Given the description of an element on the screen output the (x, y) to click on. 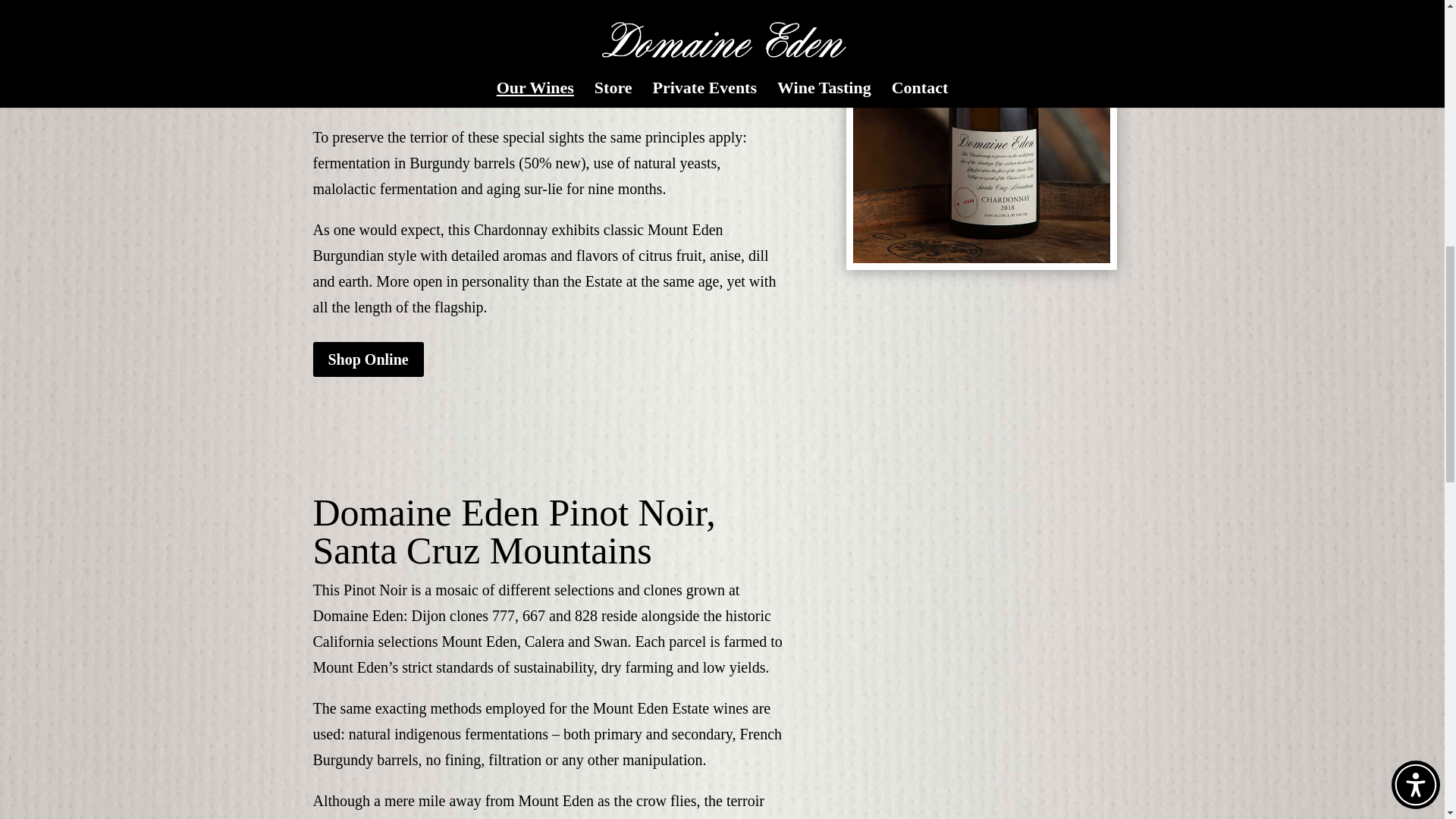
Domaine-Chardonnay-Bottle-Shot-web-ready (981, 131)
Shop Online (368, 359)
